Given the description of an element on the screen output the (x, y) to click on. 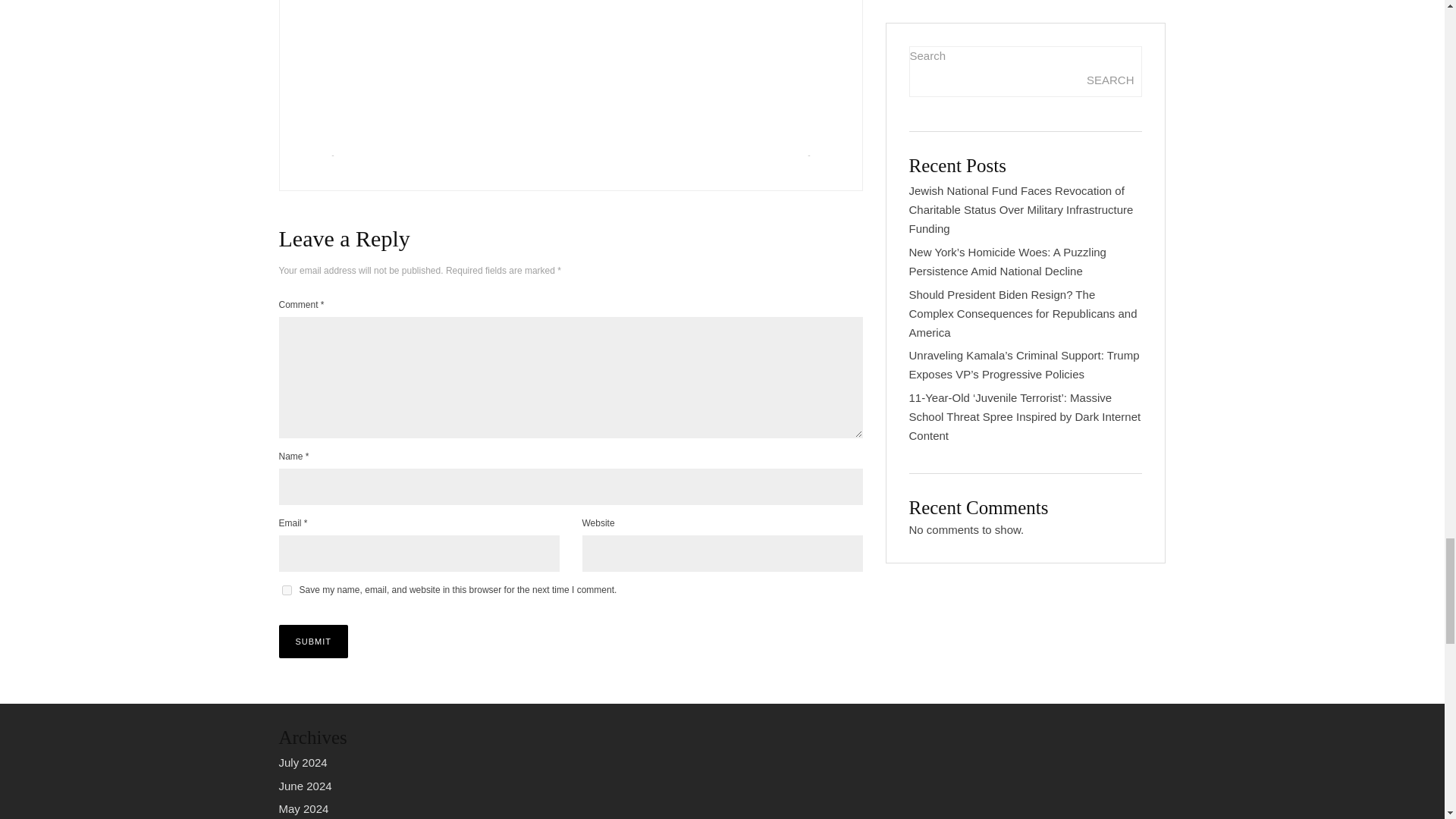
yes (287, 590)
Submit (314, 641)
